Given the description of an element on the screen output the (x, y) to click on. 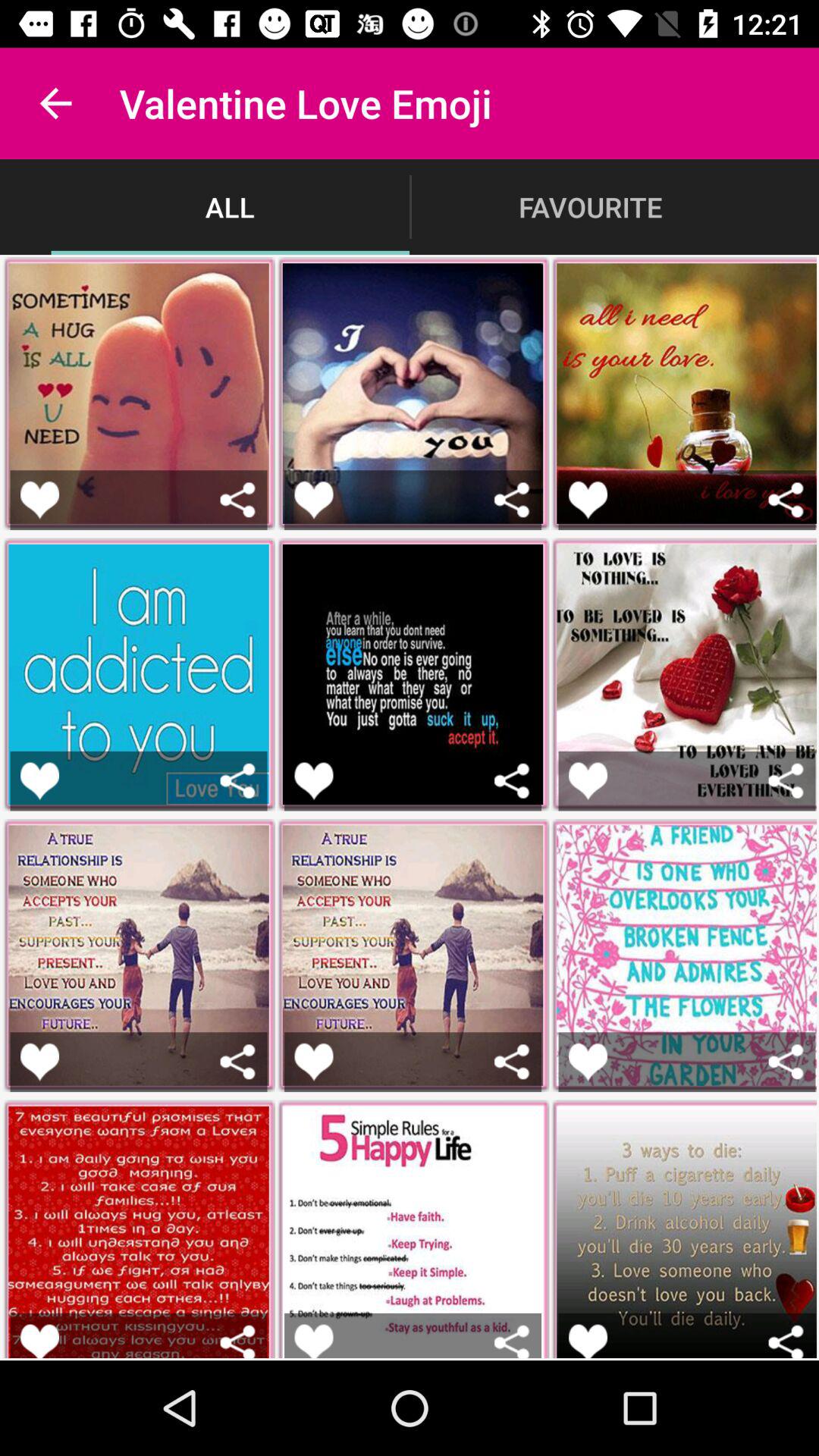
share with someone (237, 499)
